Given the description of an element on the screen output the (x, y) to click on. 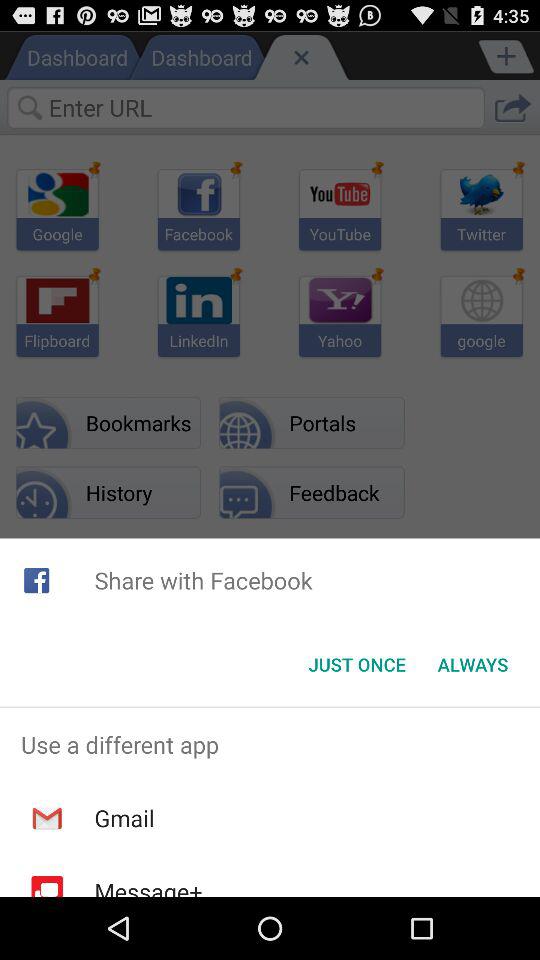
open the button at the bottom right corner (472, 664)
